Given the description of an element on the screen output the (x, y) to click on. 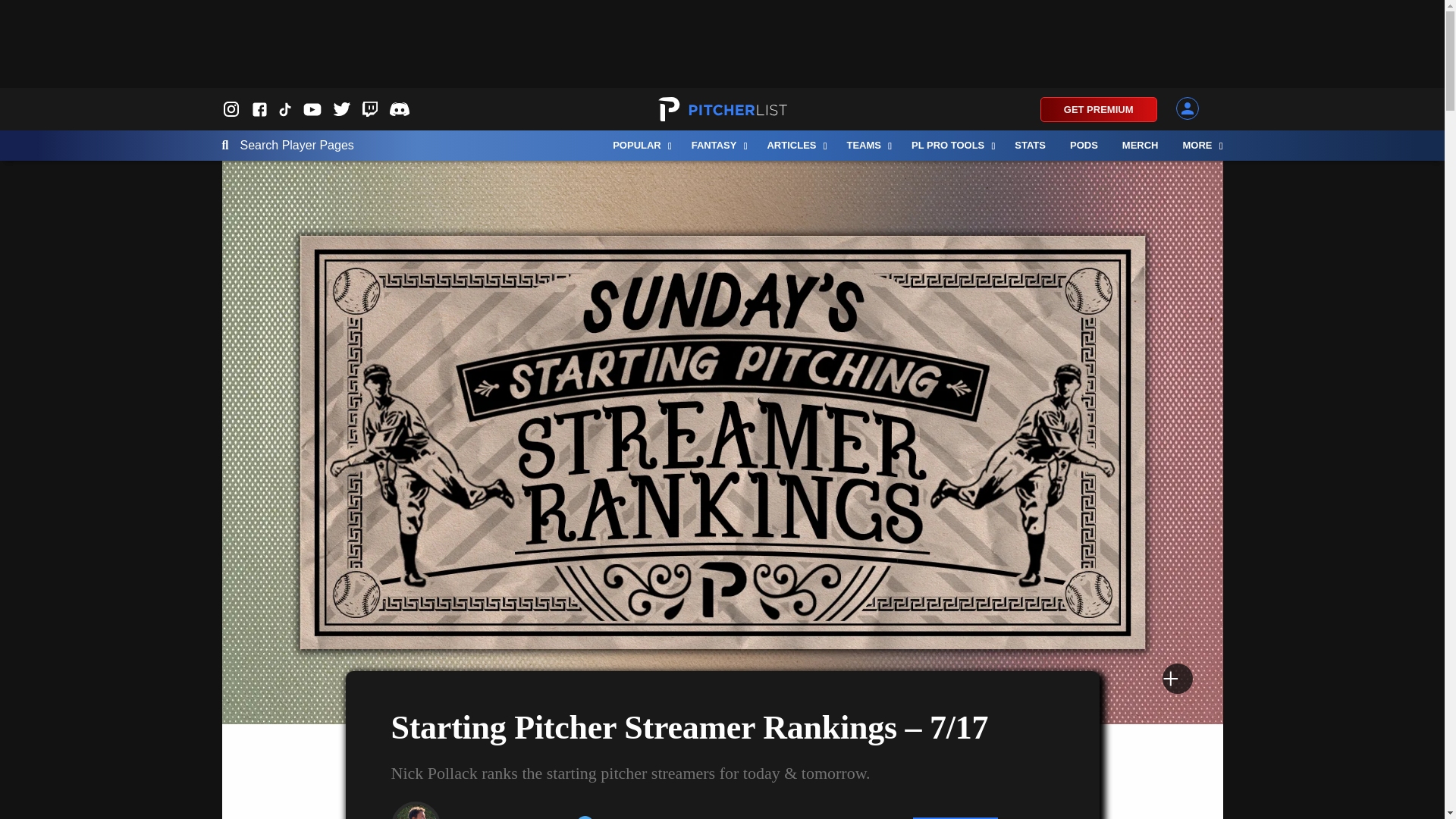
GET PREMIUM (1099, 109)
FANTASY (717, 145)
